Given the description of an element on the screen output the (x, y) to click on. 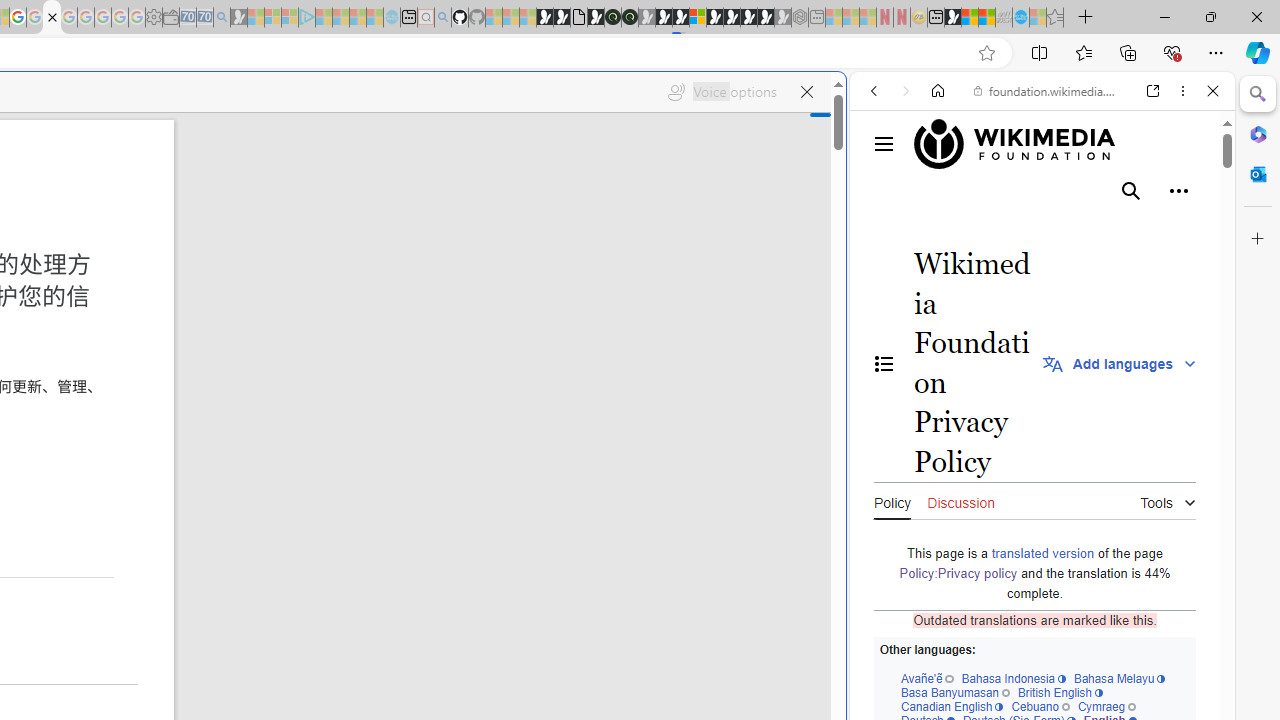
Bahasa Indonesia (1013, 678)
British English (1060, 691)
Personal tools (1178, 191)
Voice options (721, 92)
Canadian English (951, 706)
